Given the description of an element on the screen output the (x, y) to click on. 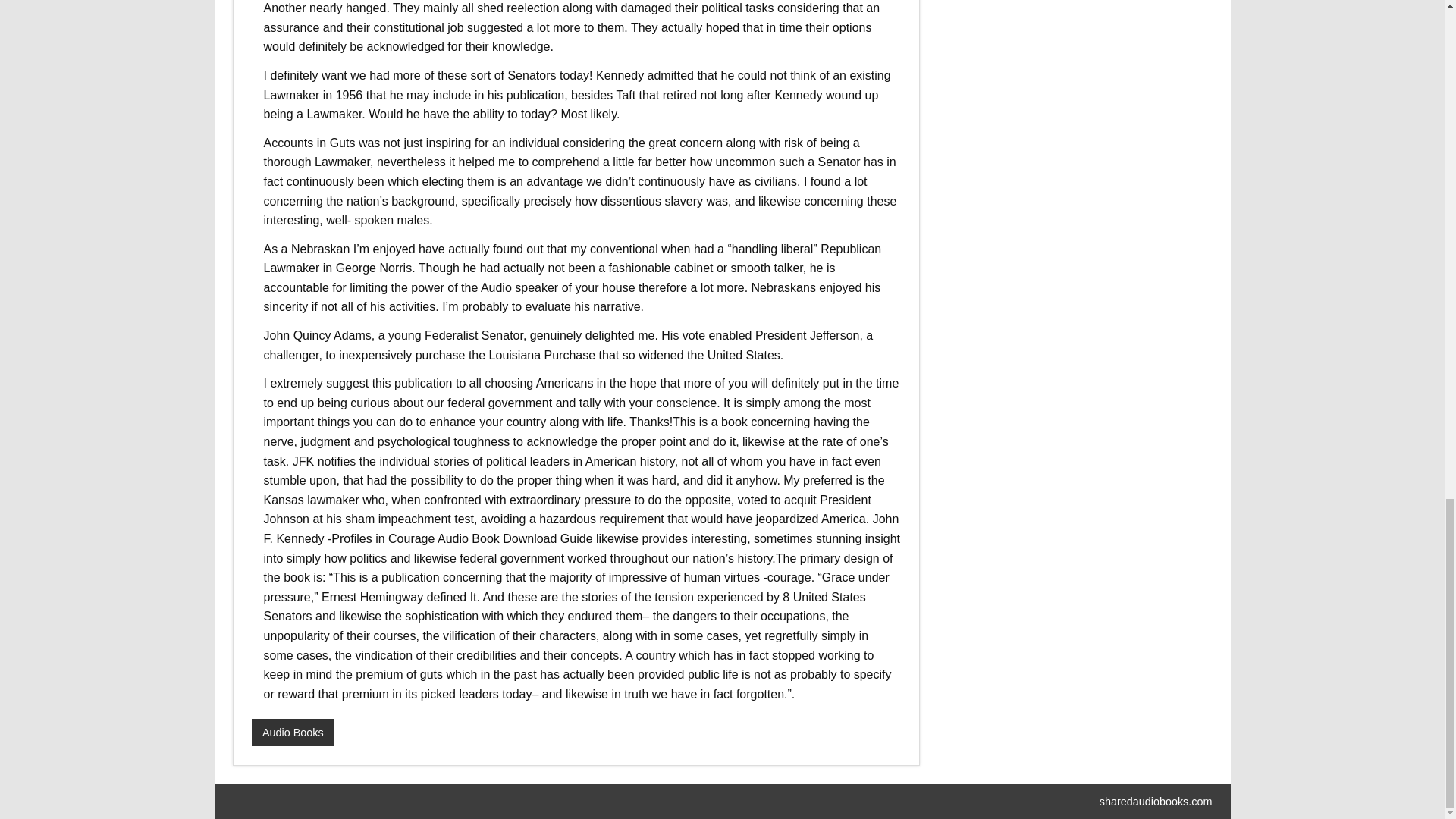
Audio Books (292, 732)
